Given the description of an element on the screen output the (x, y) to click on. 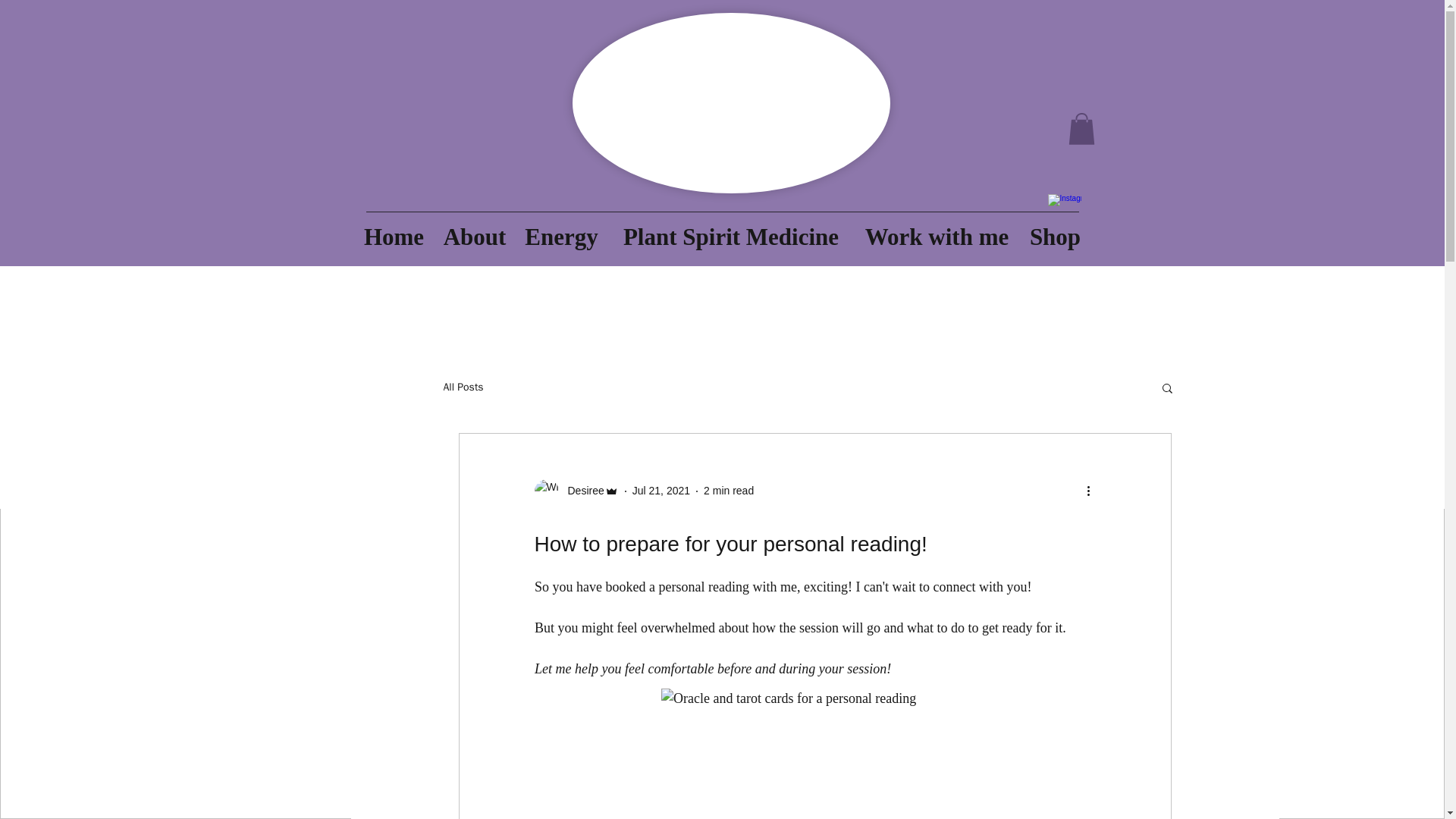
Work with me (936, 231)
Shop (1054, 231)
Desiree (575, 491)
Energy (561, 231)
About (474, 231)
2 min read (728, 490)
Jul 21, 2021 (660, 490)
All Posts (462, 386)
Home (393, 231)
Desiree  (580, 490)
Plant Spirit Medicine (731, 231)
